Given the description of an element on the screen output the (x, y) to click on. 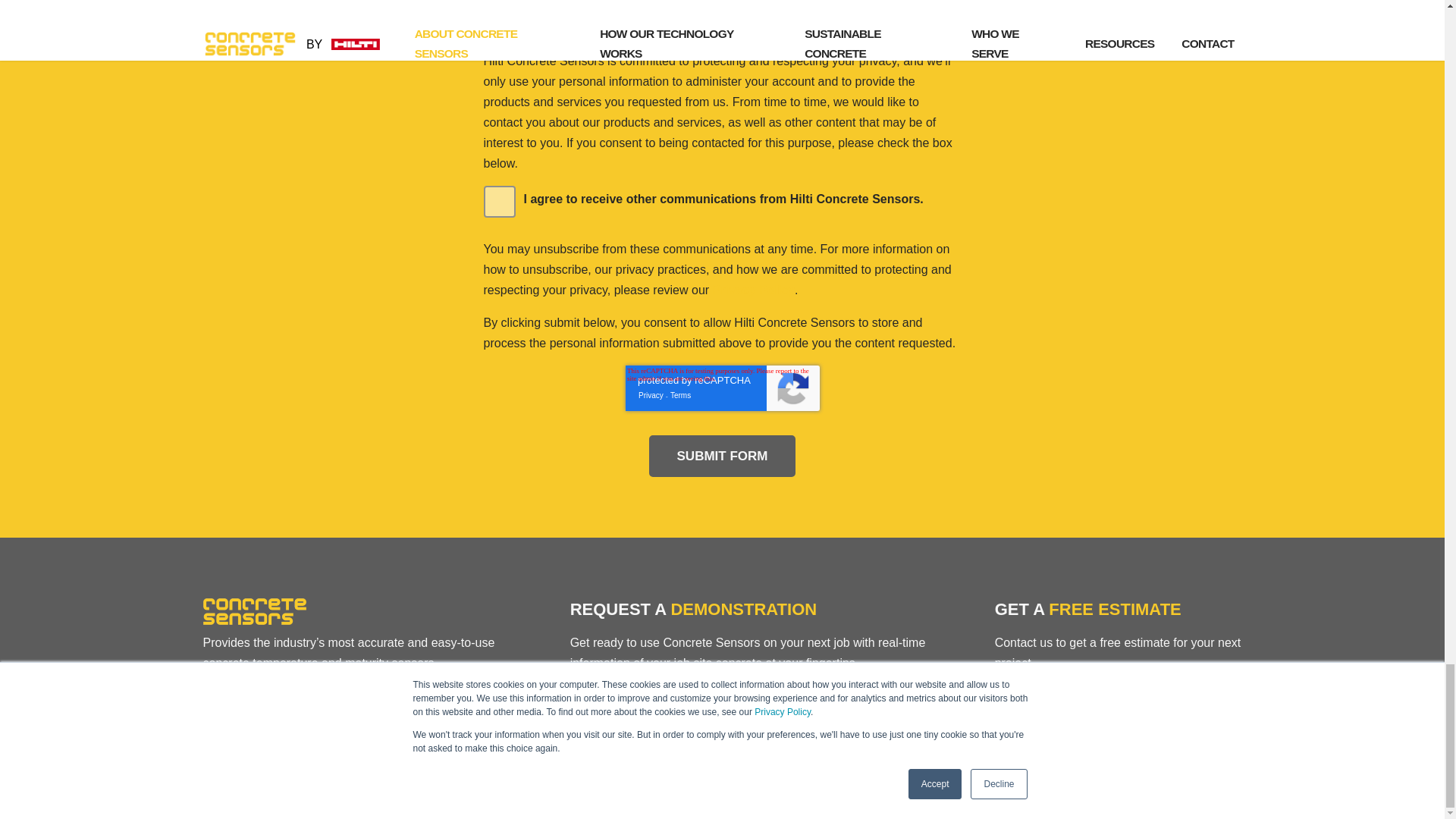
Submit Form (722, 455)
Instagram (1229, 792)
reCAPTCHA (721, 388)
LinkedIn (1154, 792)
Submit Form (722, 455)
Twitter (1115, 792)
CONTACT US (658, 791)
Privacy Policy (753, 290)
YouTube (1192, 792)
FAQS (738, 791)
EXPLORE OUR PRODUCTS (290, 694)
REQUEST A DEMO (632, 694)
LEGAL (802, 791)
FIND OUT MORE (1050, 694)
